Given the description of an element on the screen output the (x, y) to click on. 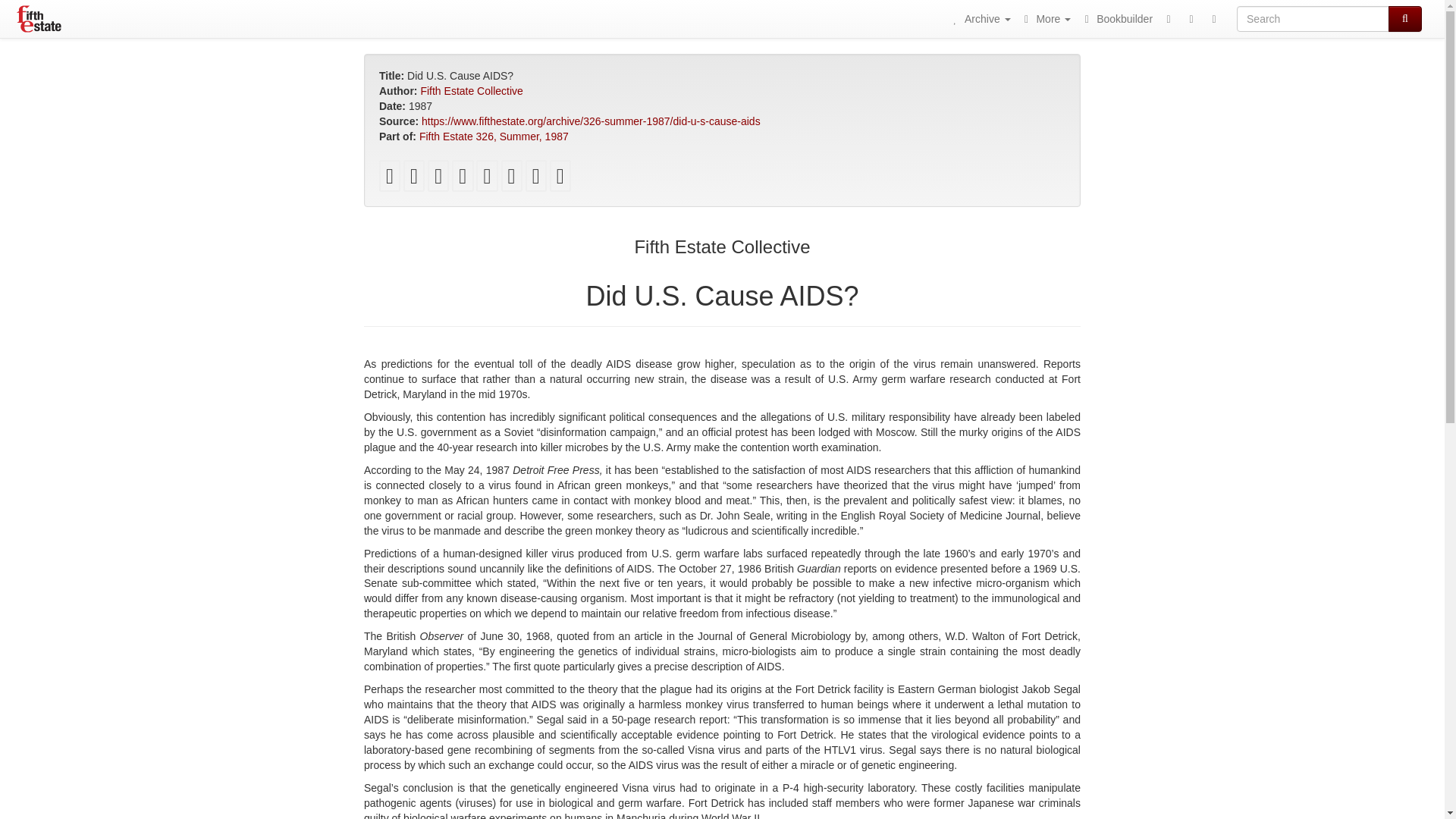
Bookbuilder (1116, 18)
Fifth Estate Collective (471, 91)
Add this text to the bookbuilder (536, 179)
XeLaTeX source (462, 179)
Plain PDF (389, 179)
texts by authors, title, topic... (978, 18)
More (1044, 18)
Bookbuilder (1116, 18)
Fifth Estate 326, Summer, 1987 (494, 136)
Source files with attachments (511, 179)
